Given the description of an element on the screen output the (x, y) to click on. 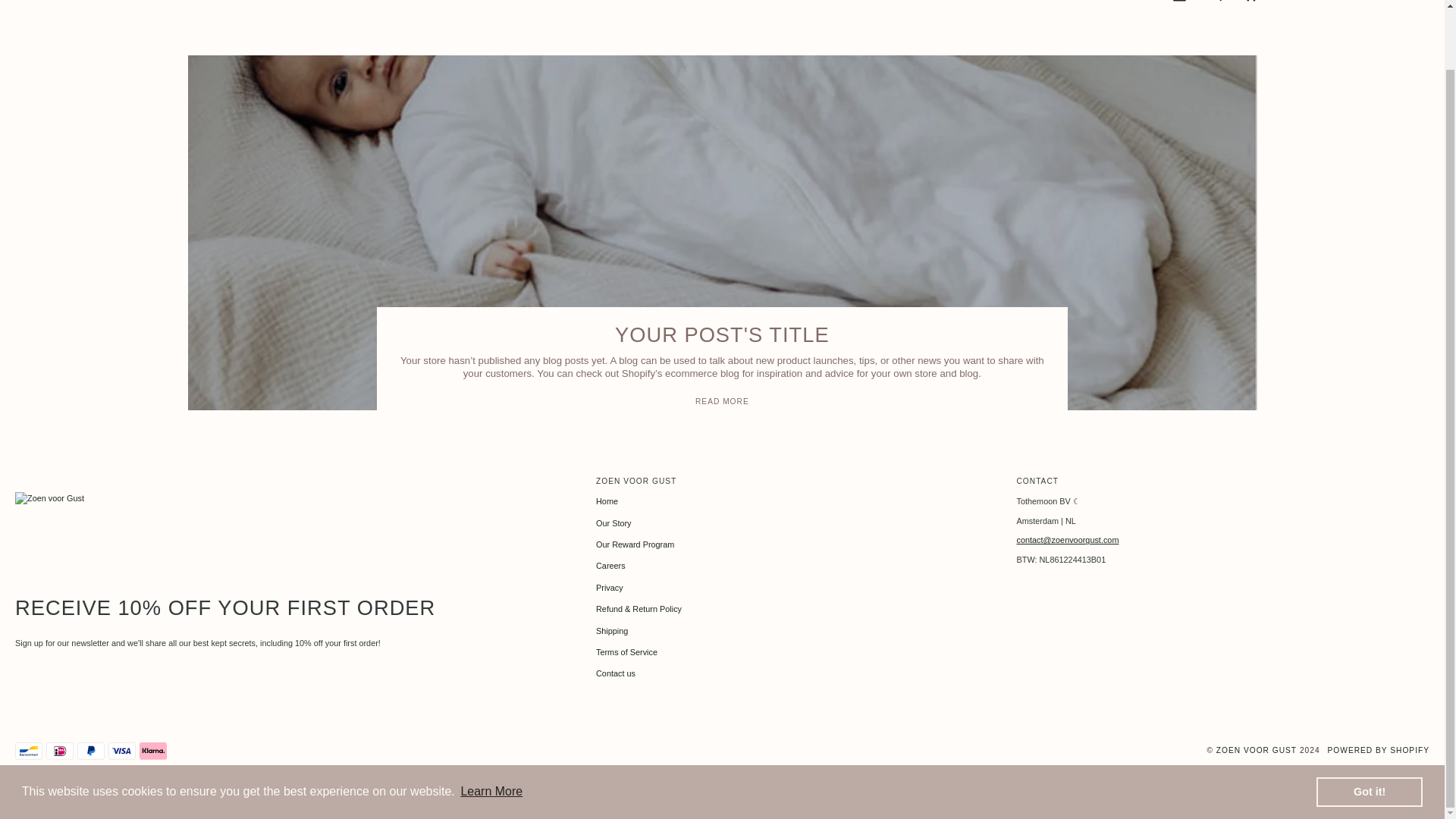
Learn More (491, 726)
KLARNA (153, 751)
PAYPAL (90, 751)
NEW (475, 13)
Pinterest (50, 789)
Facebook (21, 789)
BANCONTACT (28, 751)
ALL PRODUCTS (794, 13)
VISA (121, 751)
Got it! (1369, 726)
FOR NEWBORNS (700, 13)
Instagram (78, 789)
IDEAL (60, 751)
